Given the description of an element on the screen output the (x, y) to click on. 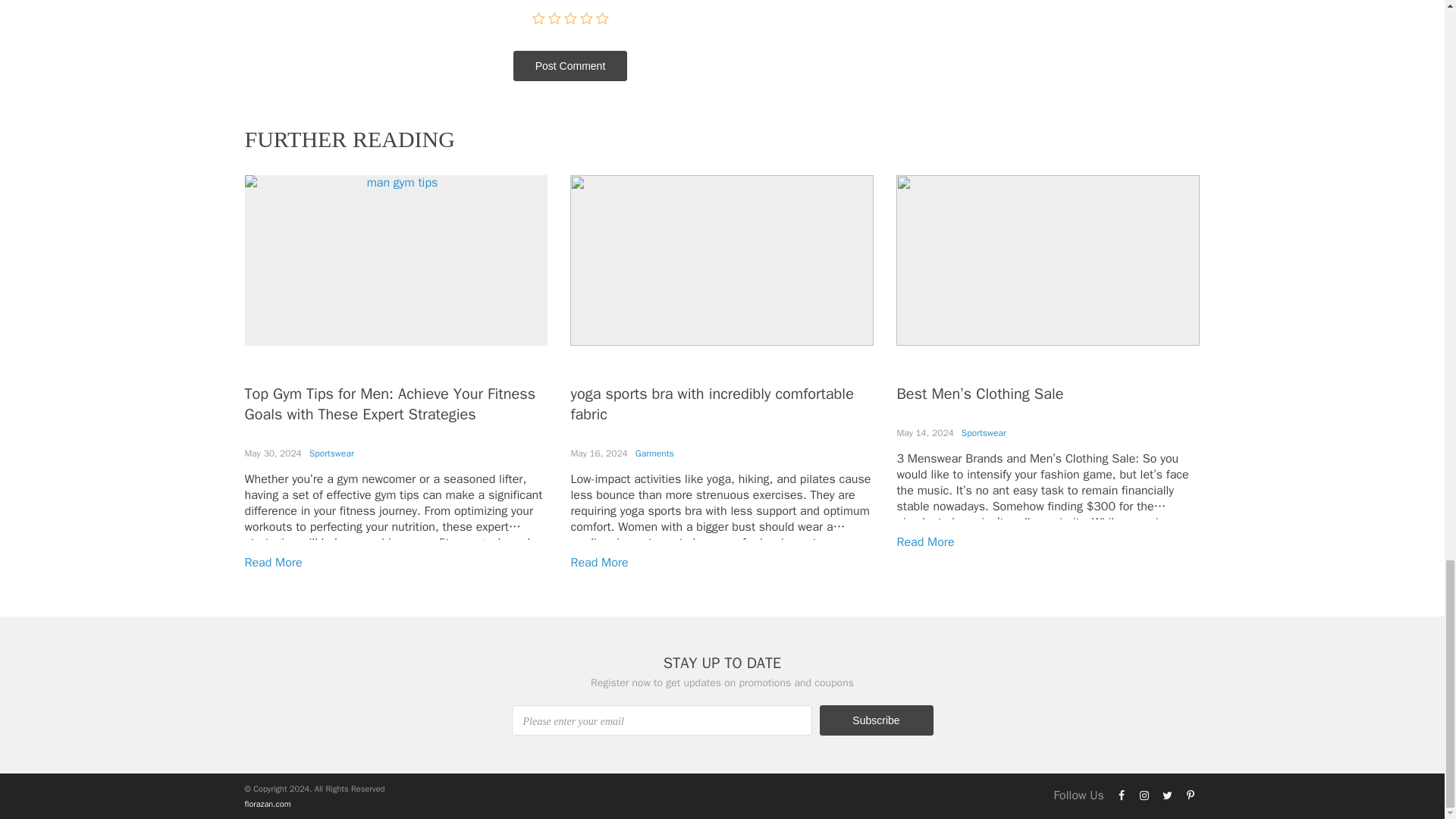
Subscribe (875, 720)
Read More (272, 562)
Subscribe (875, 720)
Read More (598, 562)
Sportswear (330, 453)
florazan.com (266, 803)
yoga sports bra with incredibly comfortable fabric (711, 404)
Garments (654, 453)
Read More (924, 541)
Sportswear (983, 432)
